Given the description of an element on the screen output the (x, y) to click on. 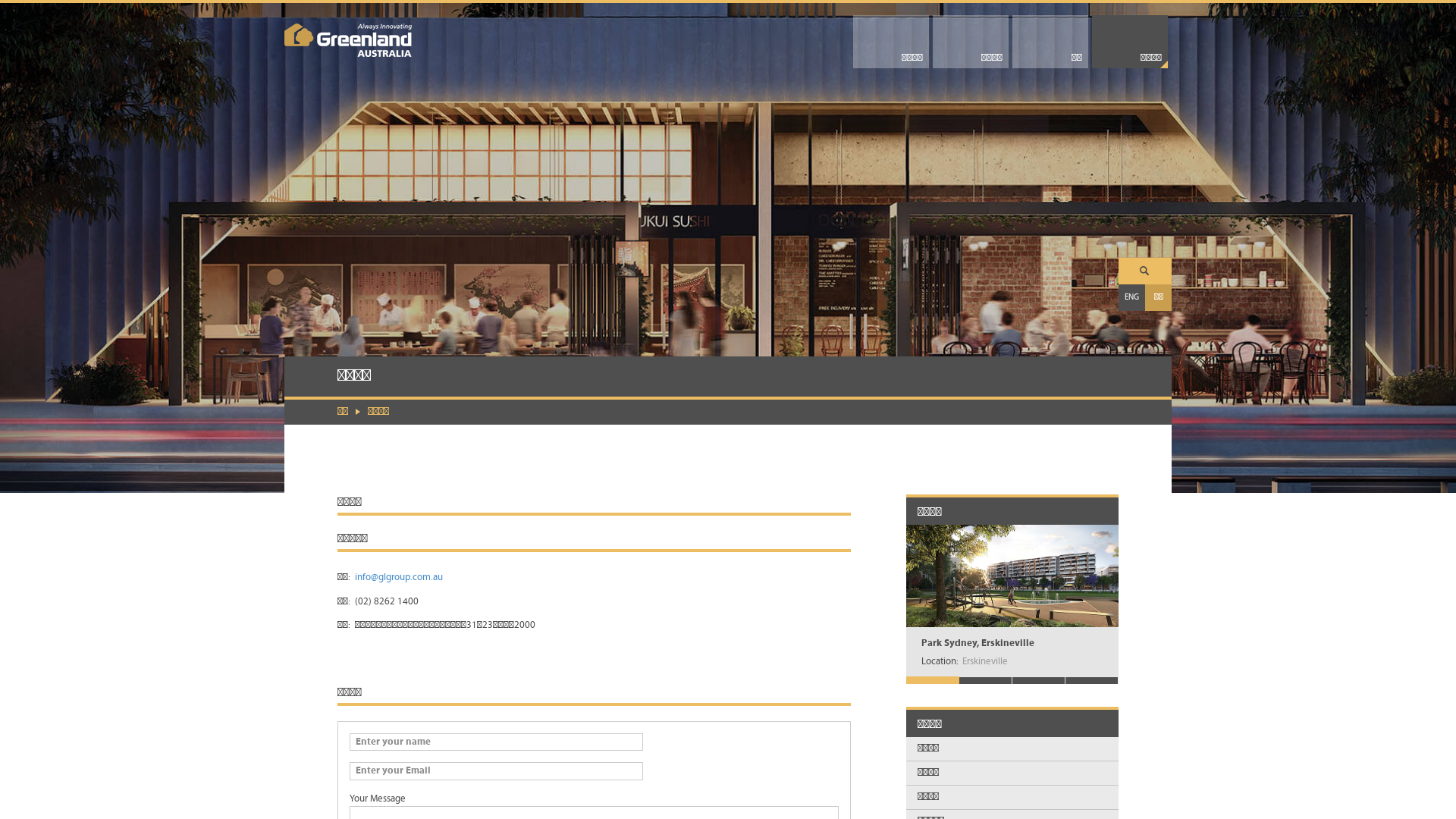
info@glgroup.com.au Element type: text (398, 577)
Park Sydney, Erskineville Element type: text (977, 643)
ENG Element type: text (1131, 297)
